Given the description of an element on the screen output the (x, y) to click on. 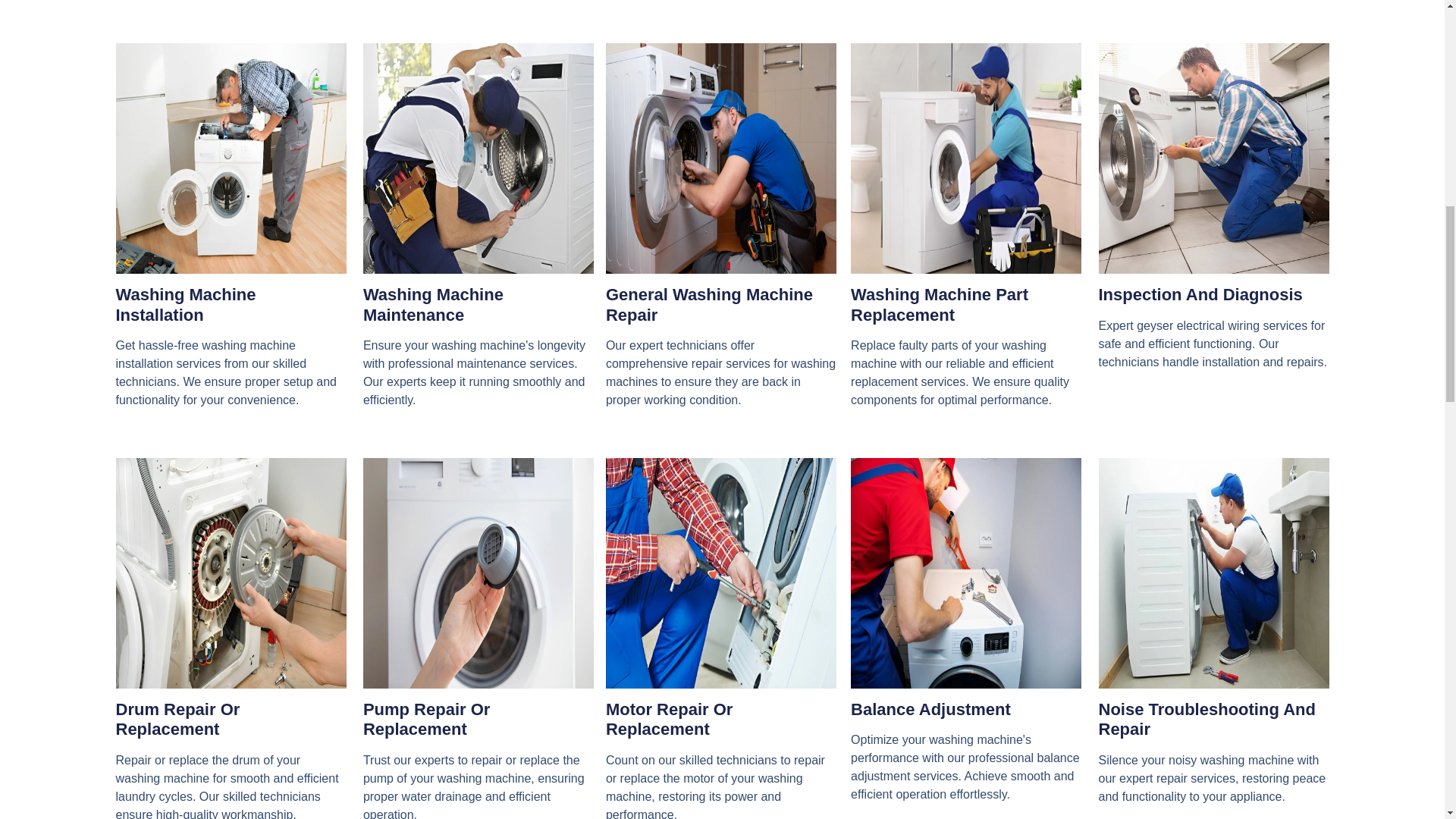
Inspection And Diagnosis (1199, 294)
Drum repair or replacement (230, 572)
General Washing Machine Repair (708, 304)
Washing Machine Part Replacement (938, 304)
Drum Repair Or Replacement (177, 719)
Washing Machine Maintenance (432, 304)
Washing Machine Installation (185, 304)
Washing machine installation (230, 158)
